Given the description of an element on the screen output the (x, y) to click on. 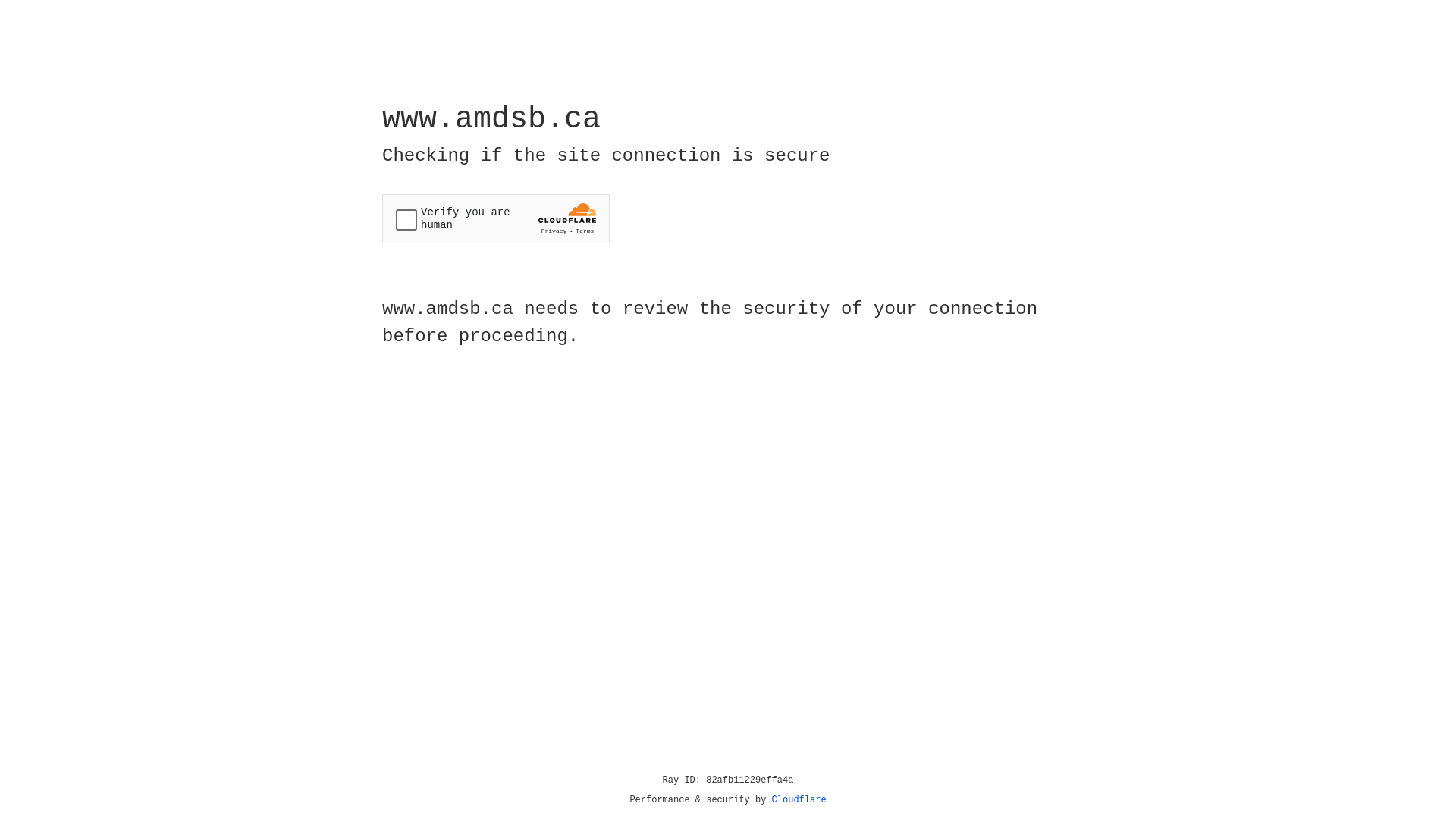
Widget containing a Cloudflare security challenge Element type: hover (495, 218)
Cloudflare Element type: text (798, 799)
